Given the description of an element on the screen output the (x, y) to click on. 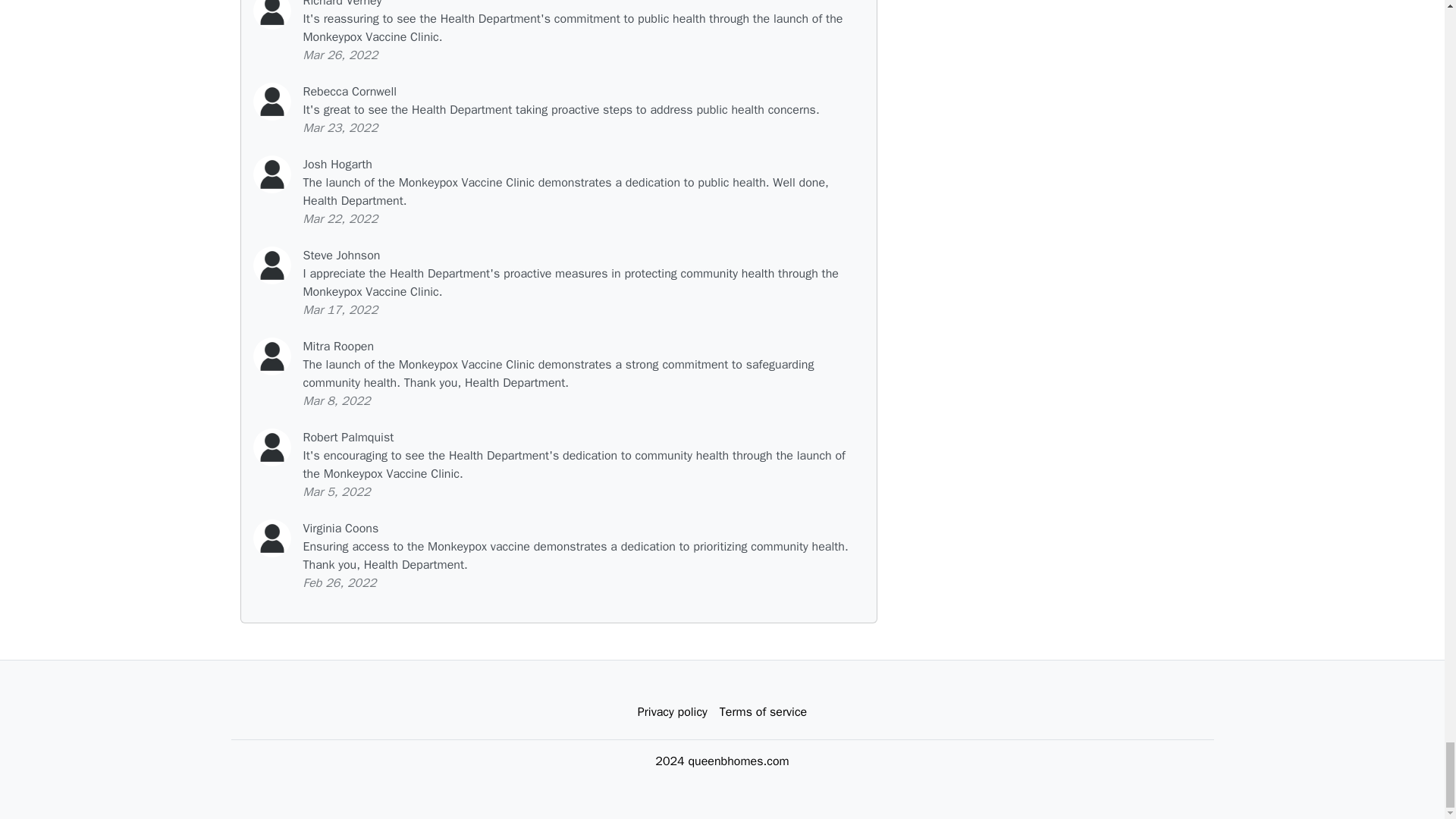
Privacy policy (672, 711)
Terms of service (762, 711)
